Given the description of an element on the screen output the (x, y) to click on. 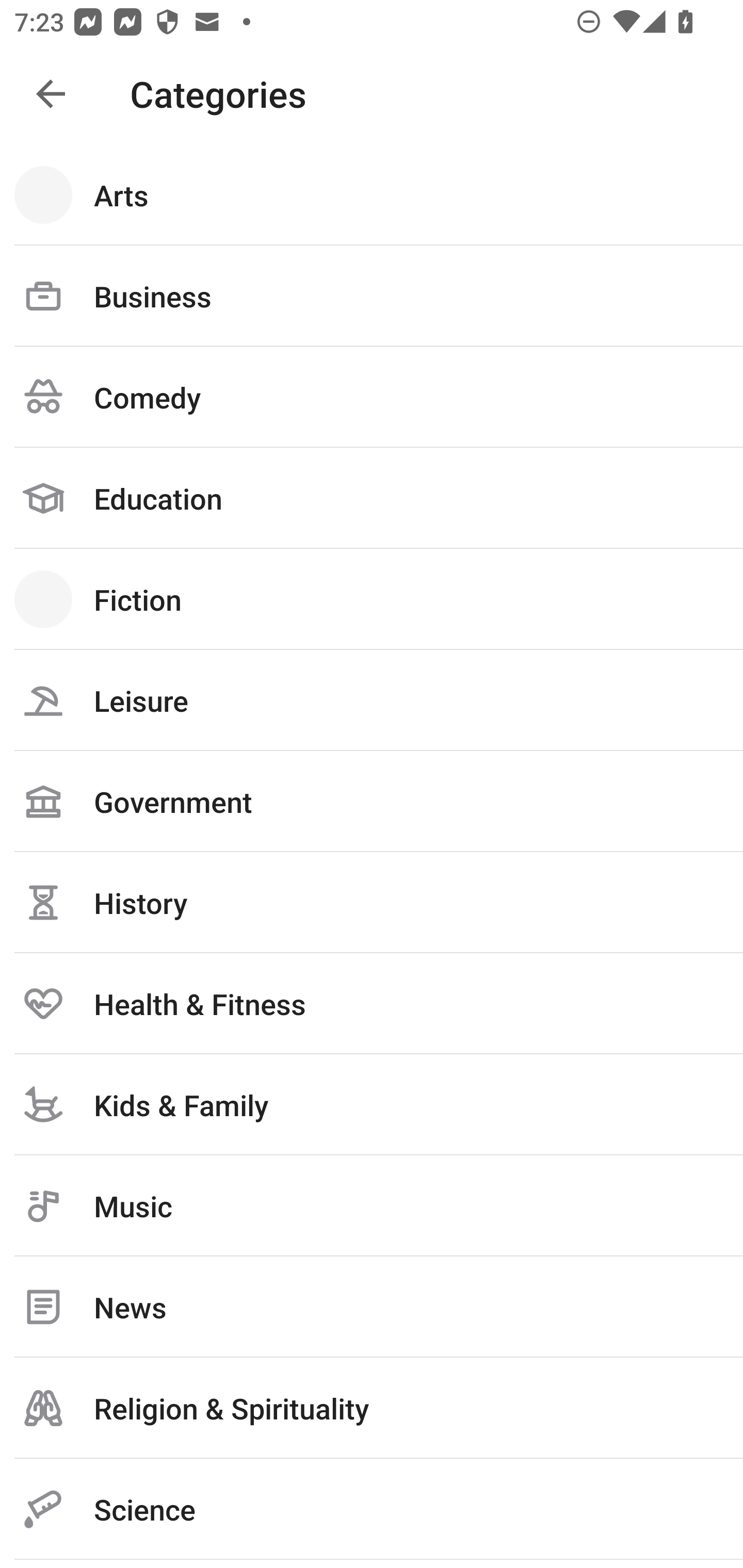
Navigate up (50, 93)
Arts (371, 195)
Business (371, 296)
Comedy (371, 397)
Education (371, 498)
Fiction (371, 598)
Leisure (371, 700)
Government (371, 801)
History (371, 902)
Health & Fitness (371, 1003)
Kids & Family (371, 1104)
Music (371, 1205)
News (371, 1306)
Religion & Spirituality (371, 1407)
Science (371, 1509)
